Given the description of an element on the screen output the (x, y) to click on. 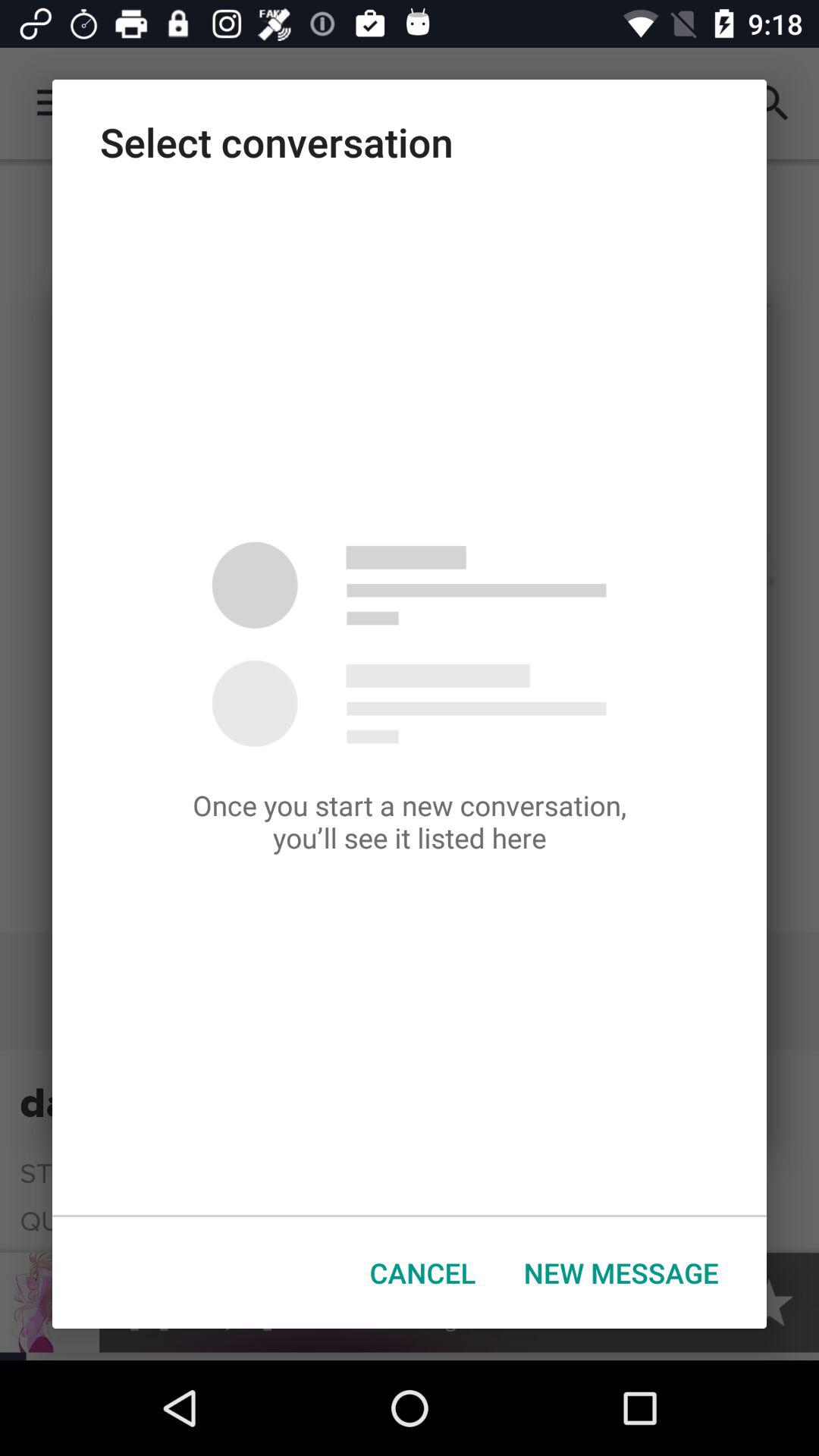
flip until the new message (620, 1272)
